Given the description of an element on the screen output the (x, y) to click on. 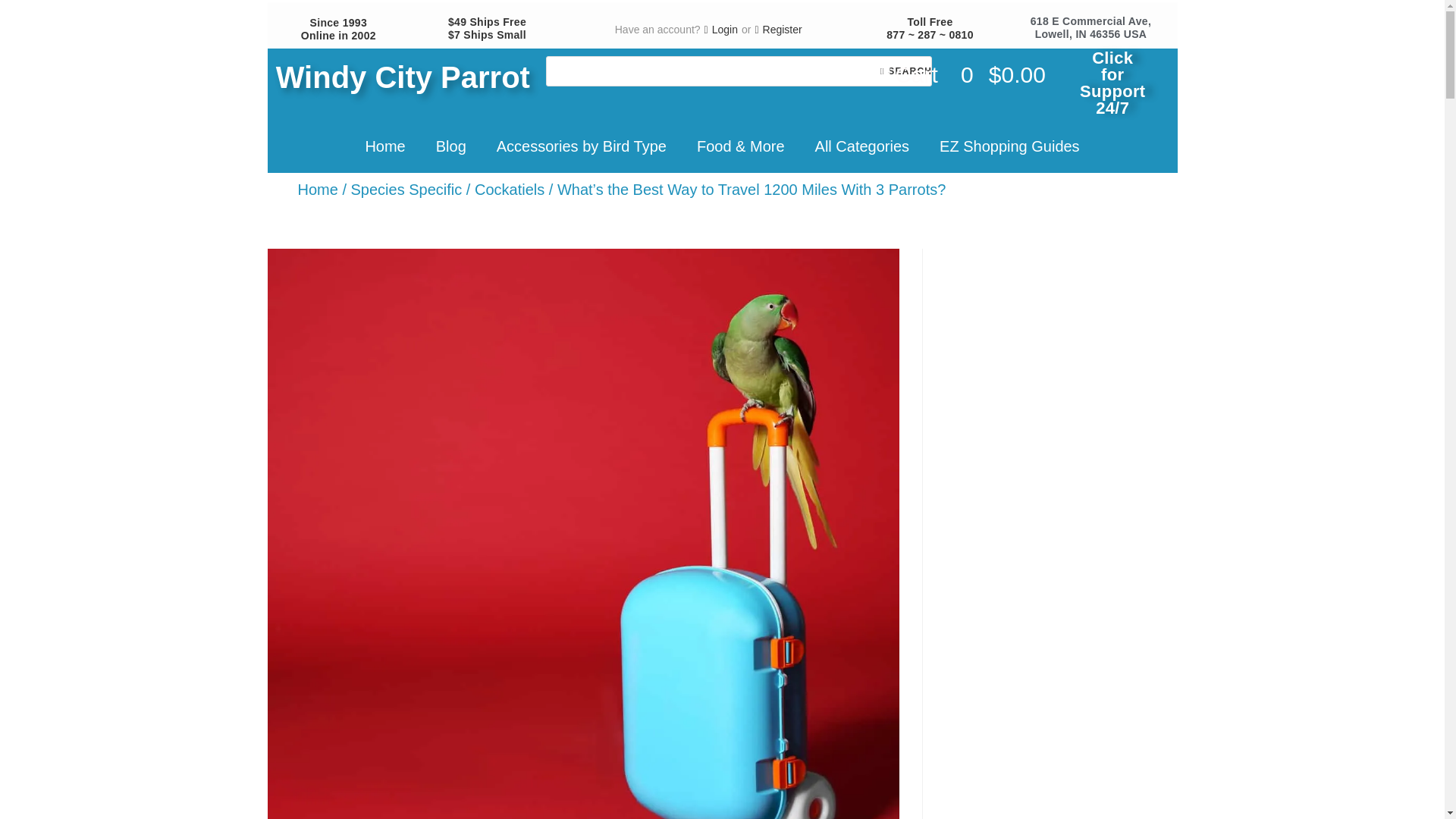
Home (384, 145)
Login (721, 29)
Home (317, 189)
View your shopping cart (962, 74)
Blog (450, 145)
Cockatiels (509, 189)
All Categories (861, 145)
Windy City Parrot (402, 77)
Accessories by Bird Type (581, 145)
EZ Shopping Guides (1009, 145)
